Given the description of an element on the screen output the (x, y) to click on. 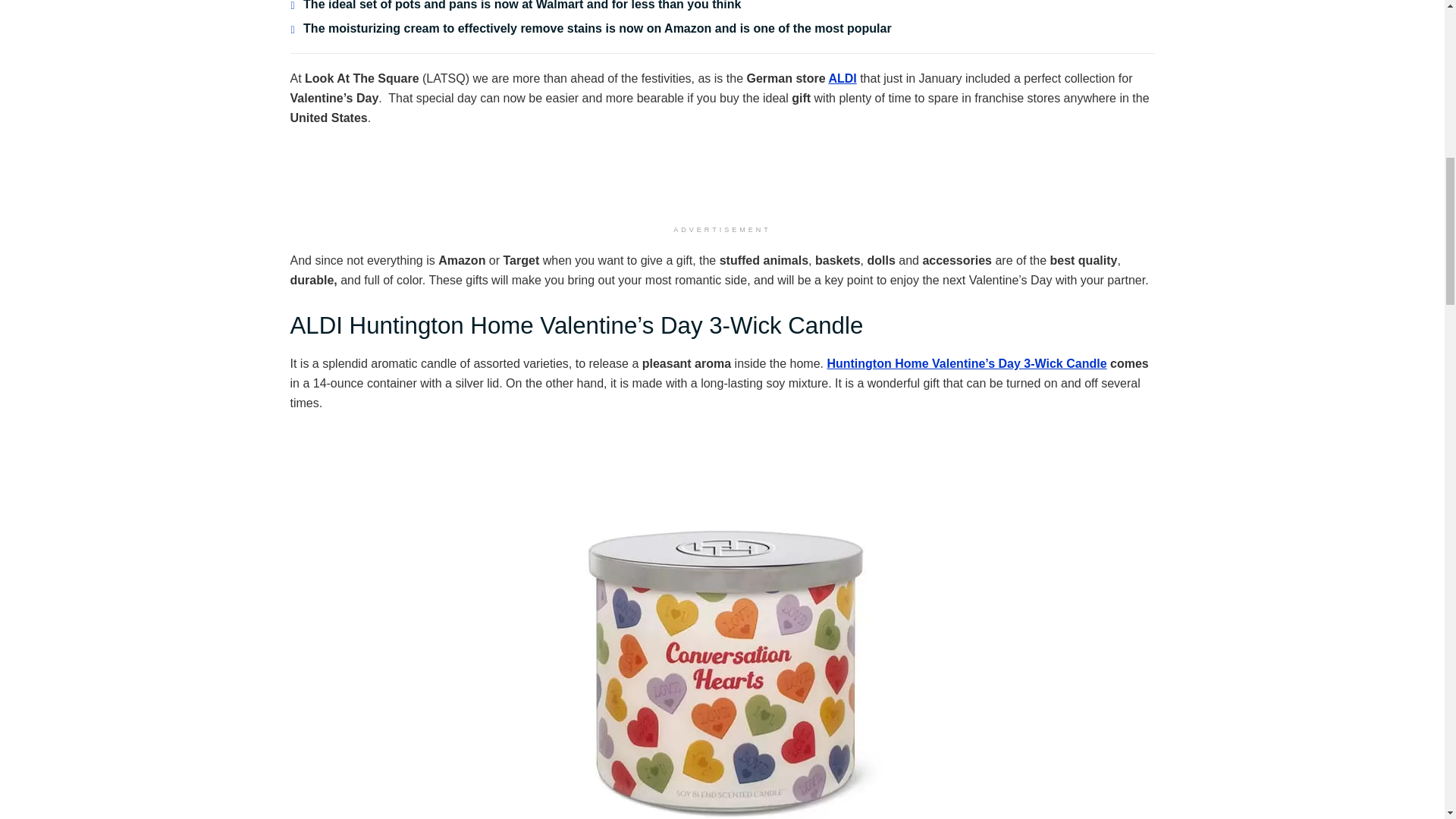
ALDI (842, 78)
